Given the description of an element on the screen output the (x, y) to click on. 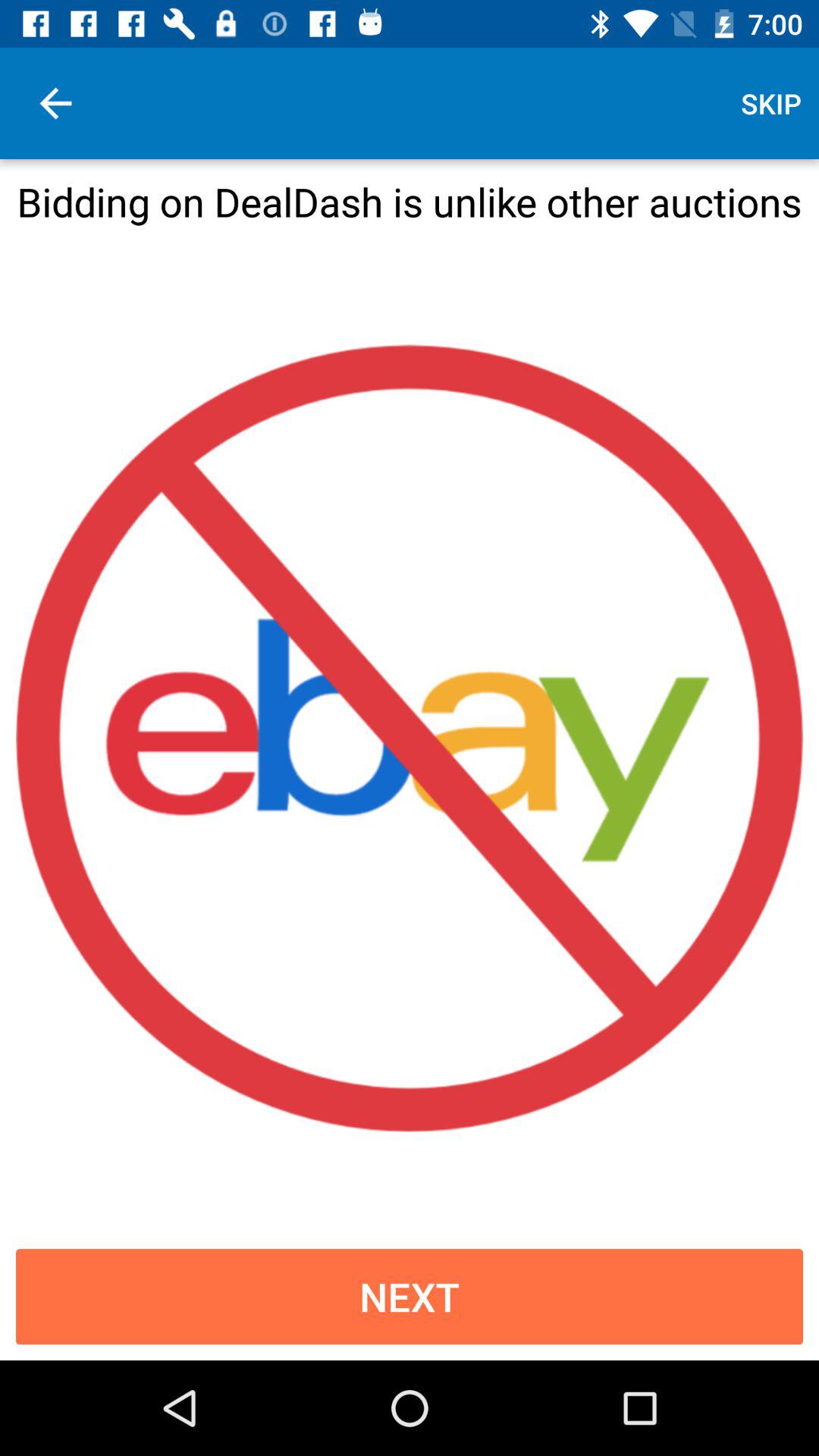
turn off the item next to skip (55, 103)
